Given the description of an element on the screen output the (x, y) to click on. 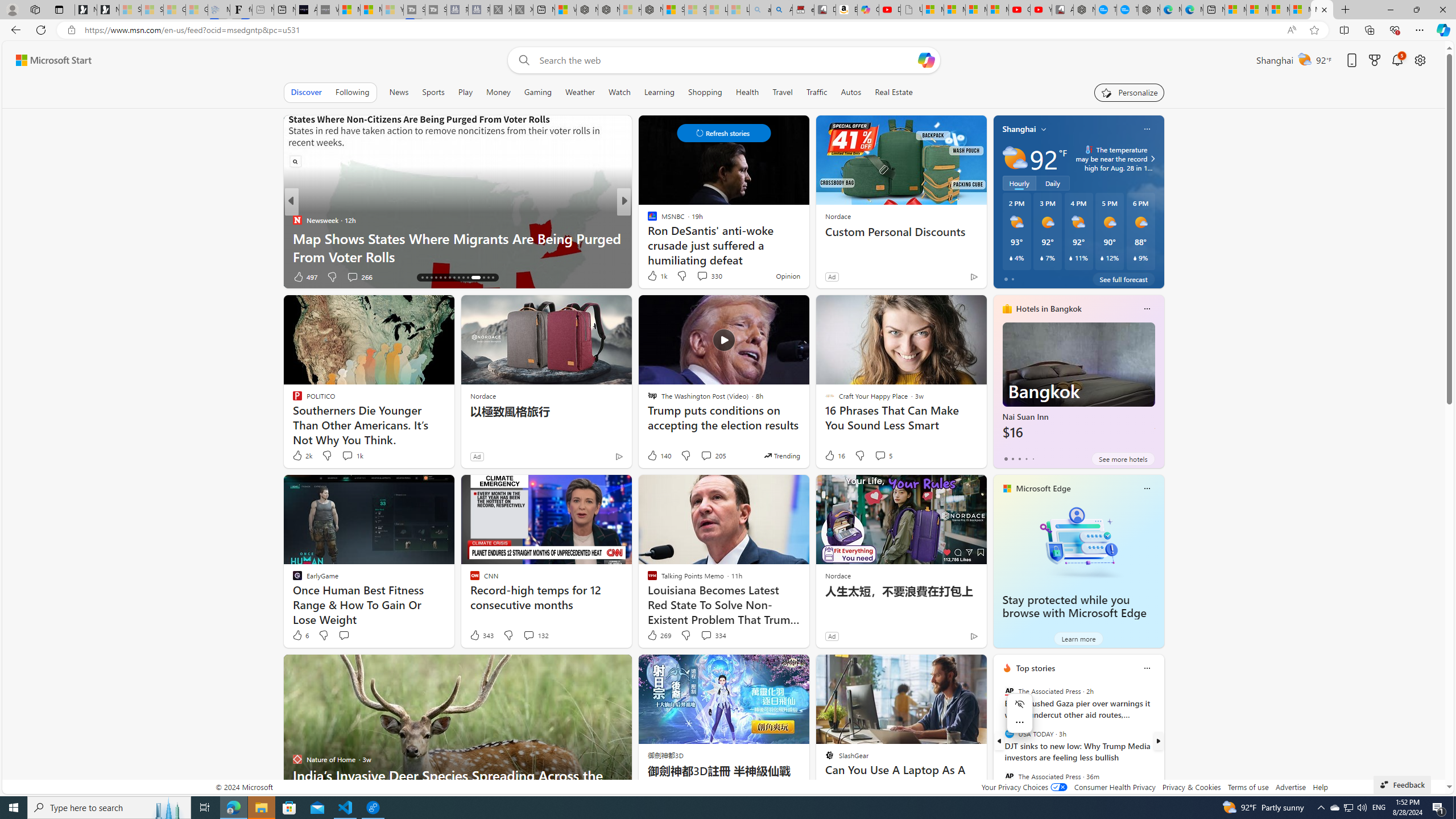
Class: icon-img (1146, 668)
AutomationID: tab-25 (462, 277)
AutomationID: tab-21 (444, 277)
Partly sunny (1014, 158)
AutomationID: tab-18 (431, 277)
Nordace - My Account (1083, 9)
View comments 266 Comment (6, 276)
Help (1320, 786)
Autos (850, 92)
next (1158, 741)
